Given the description of an element on the screen output the (x, y) to click on. 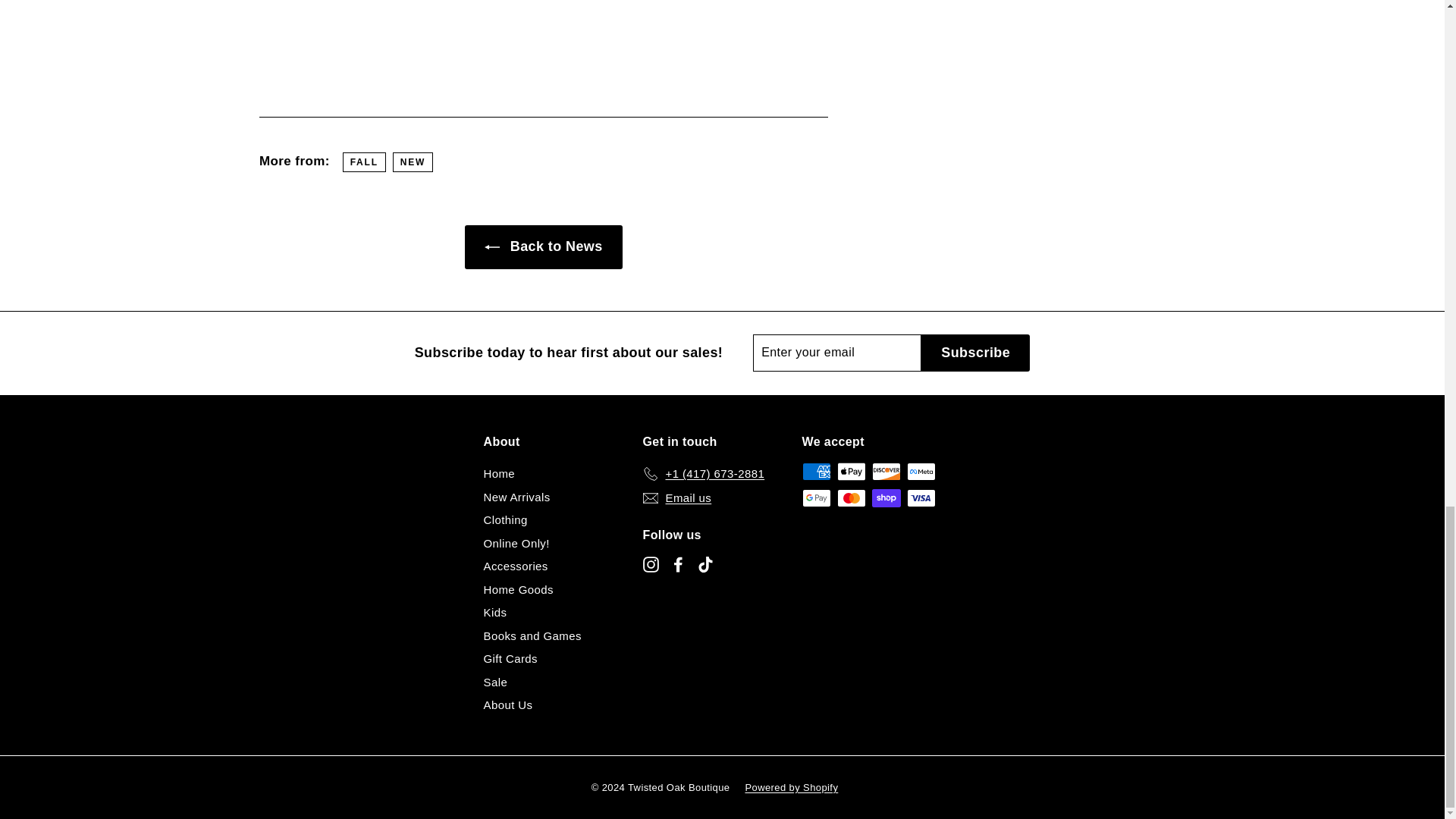
Meta Pay (921, 471)
American Express (816, 471)
Discover (886, 471)
Apple Pay (851, 471)
Google Pay (816, 497)
